Given the description of an element on the screen output the (x, y) to click on. 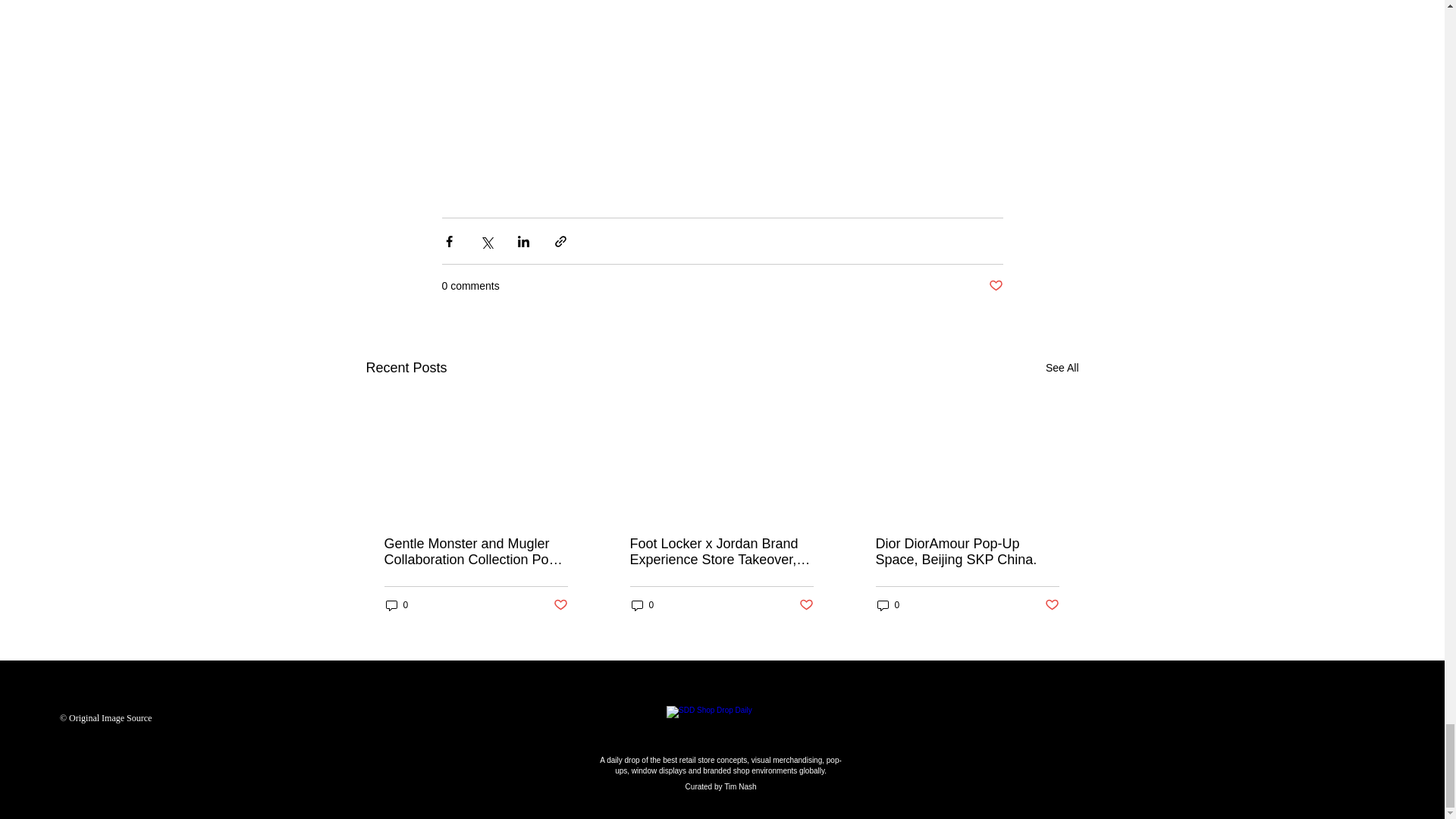
Post not marked as liked (995, 286)
0 (641, 605)
Post not marked as liked (560, 605)
Post not marked as liked (1052, 605)
Dior DiorAmour Pop-Up Space, Beijing SKP China. (966, 552)
0 (396, 605)
0 (888, 605)
Post not marked as liked (806, 605)
Tim Nash (739, 786)
See All (1061, 368)
